Given the description of an element on the screen output the (x, y) to click on. 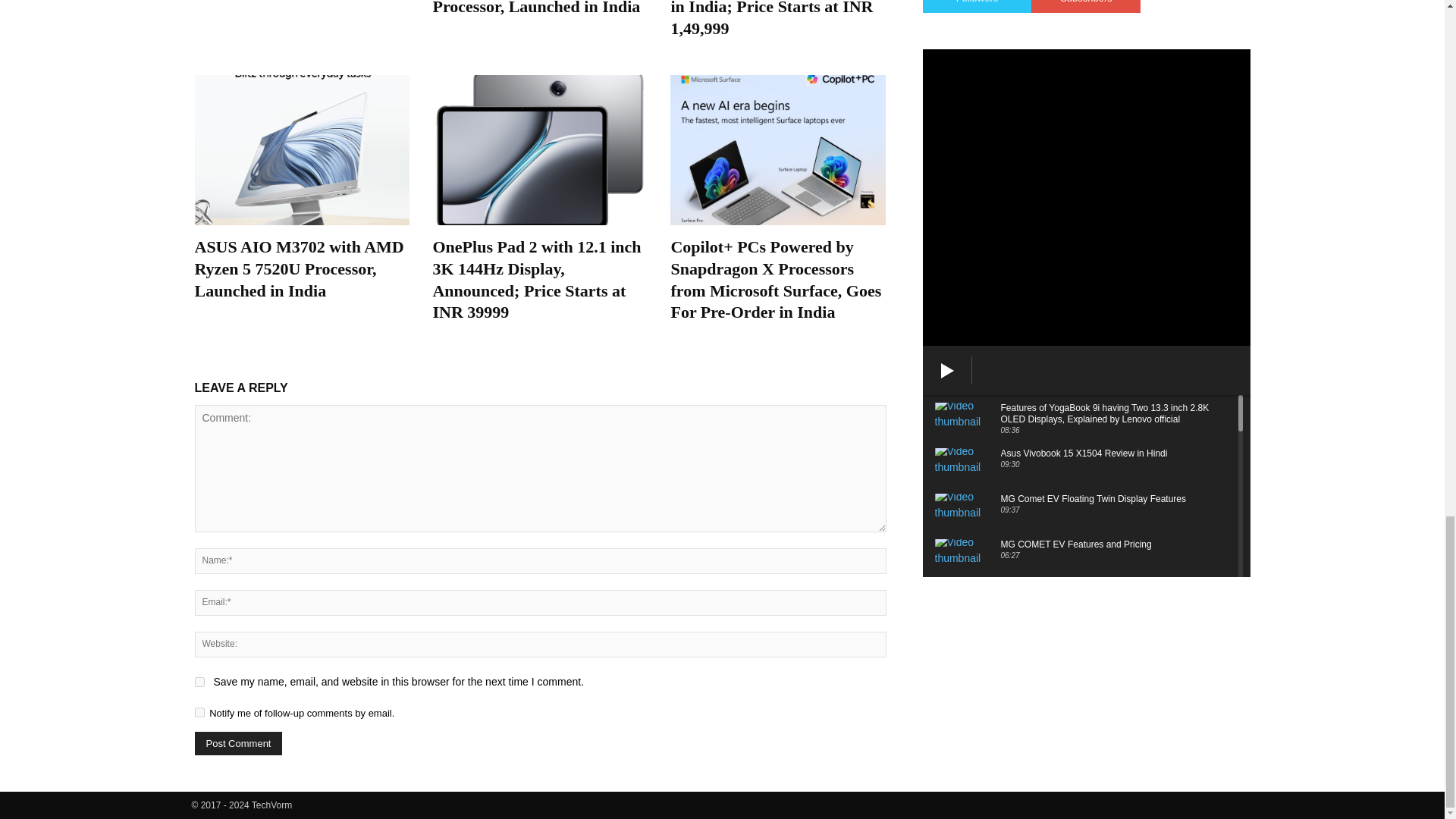
Post Comment (237, 743)
subscribe (198, 712)
yes (198, 682)
